Given the description of an element on the screen output the (x, y) to click on. 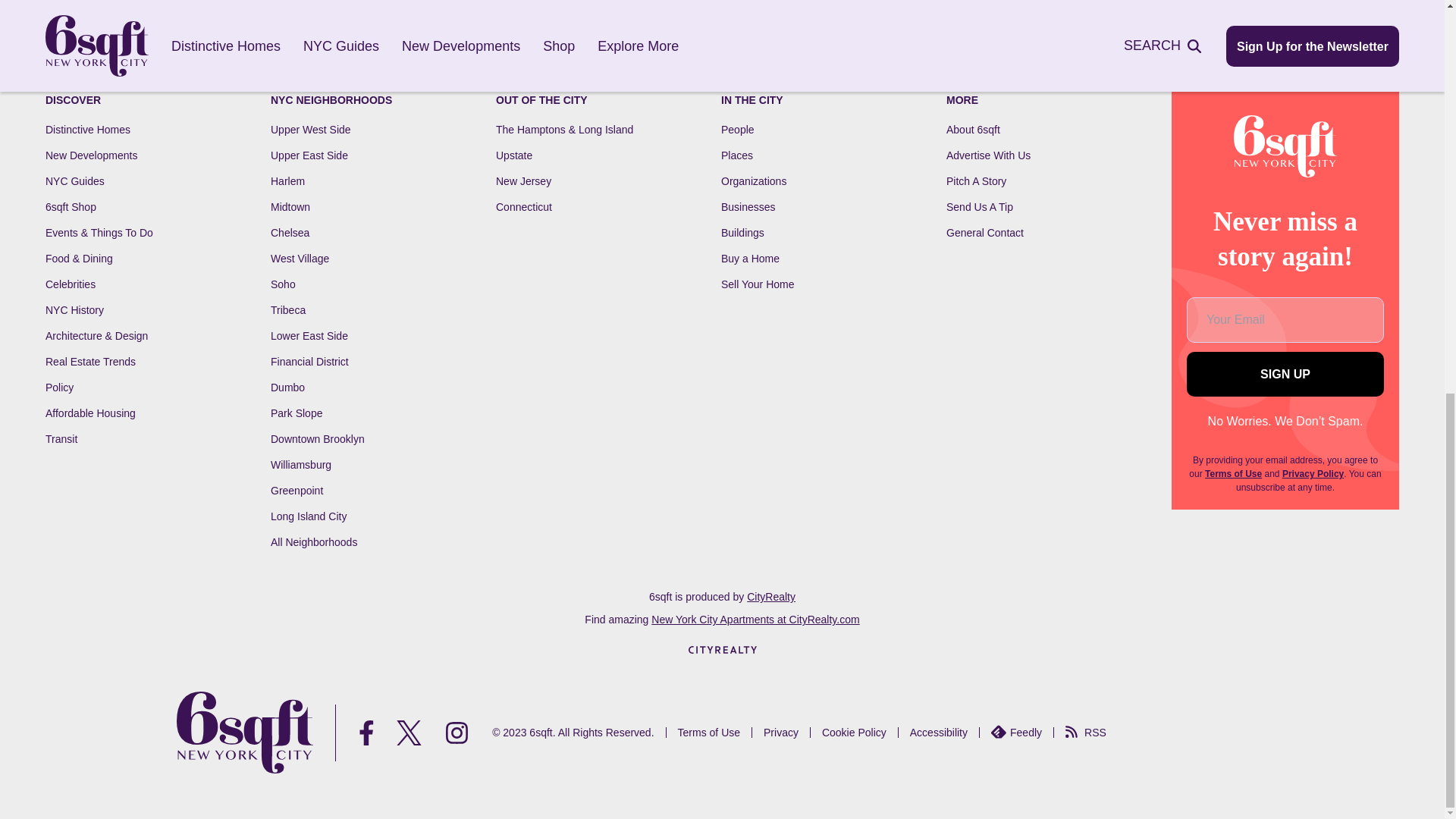
SIGN UP (1285, 374)
NYC Guides (74, 181)
NYC History (74, 309)
New Developments (90, 155)
Celebrities (70, 284)
Affordable Housing (90, 413)
Policy (59, 387)
Upper West Side (310, 129)
Real Estate Trends (90, 361)
Distinctive Homes (88, 129)
Transit (61, 439)
6sqft Shop (70, 206)
